Given the description of an element on the screen output the (x, y) to click on. 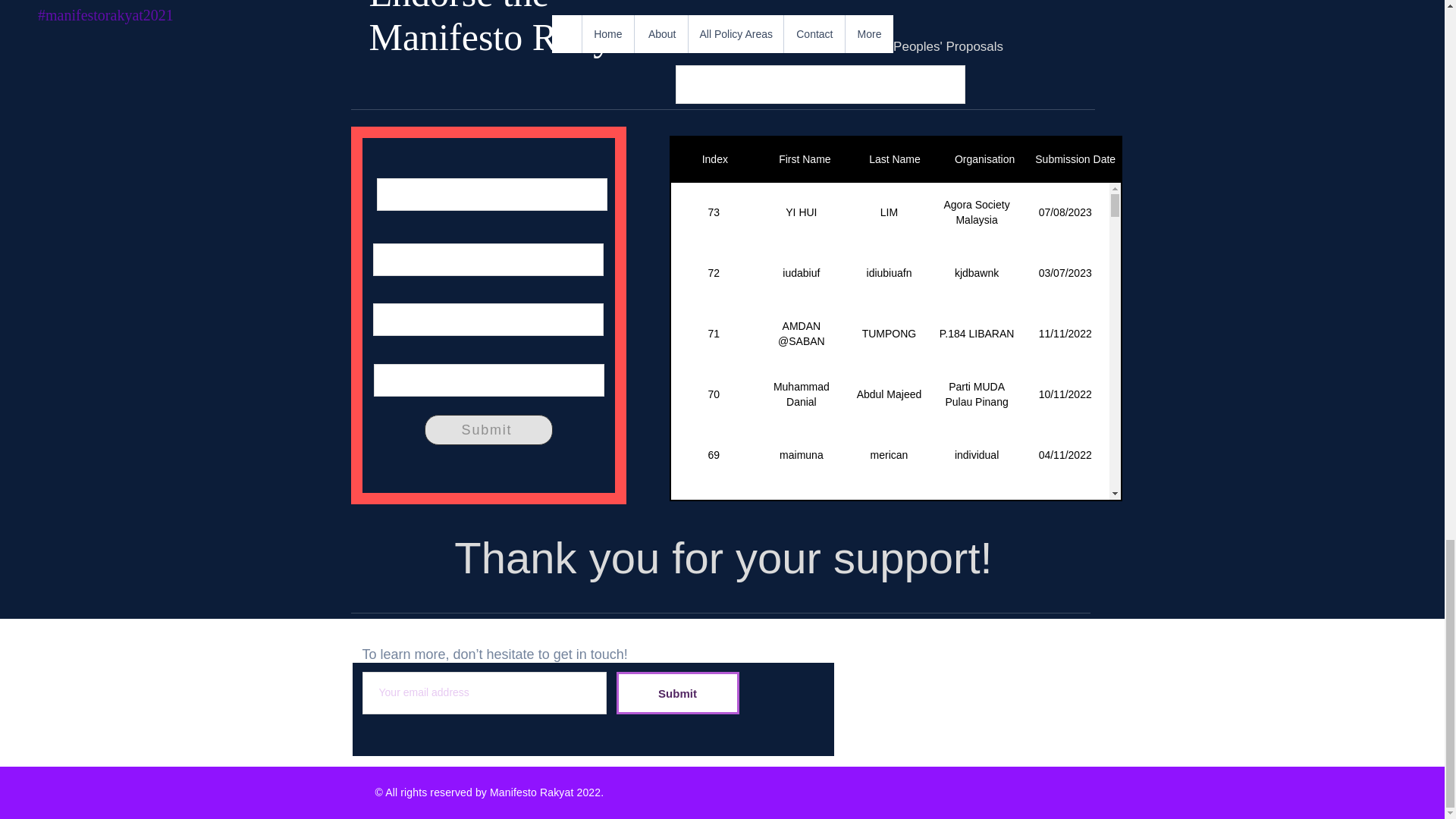
Submit (676, 692)
Submit (489, 429)
Contact Us (407, 635)
